Given the description of an element on the screen output the (x, y) to click on. 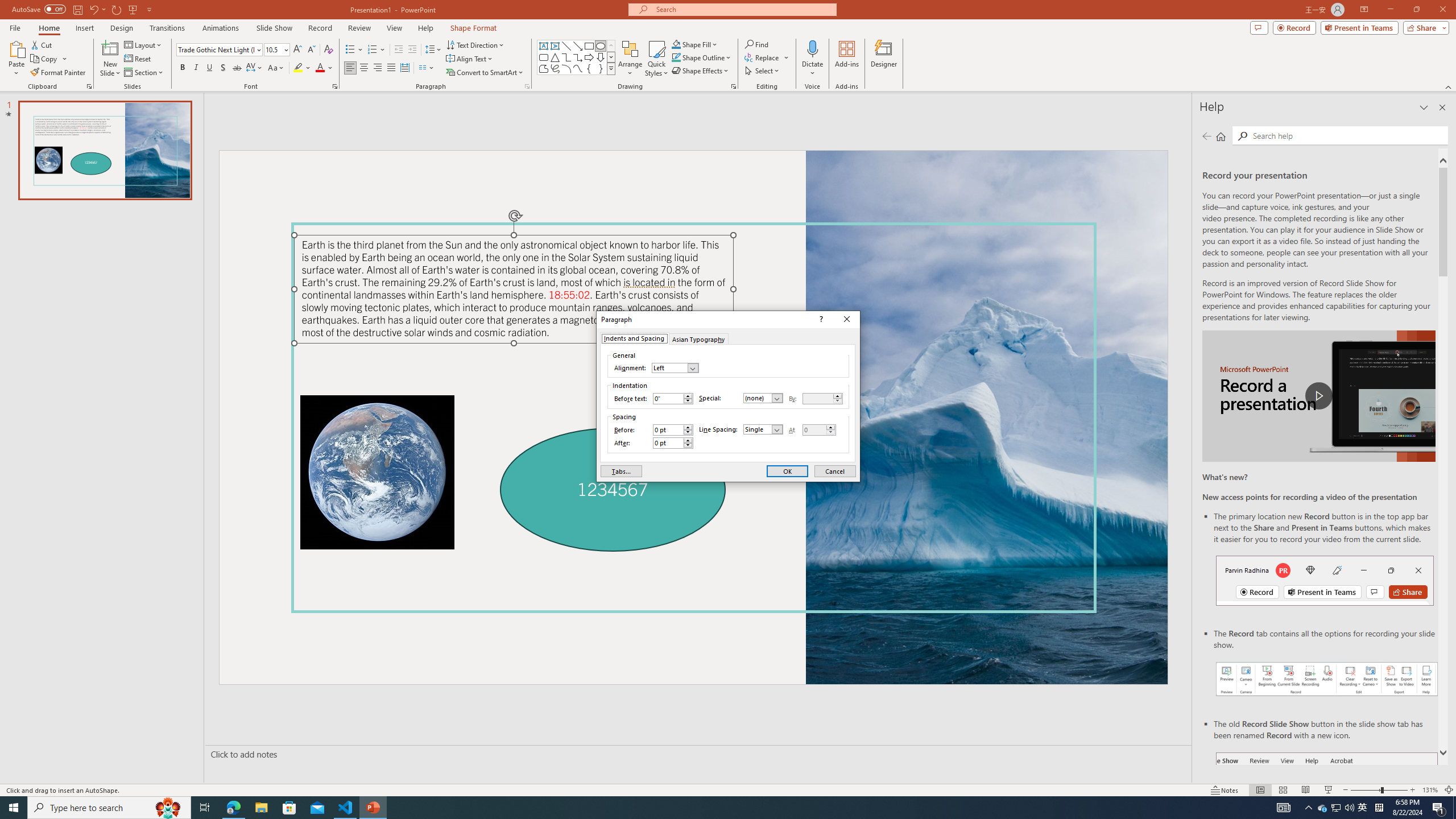
Shape Outline Teal, Accent 1 (675, 56)
